Given the description of an element on the screen output the (x, y) to click on. 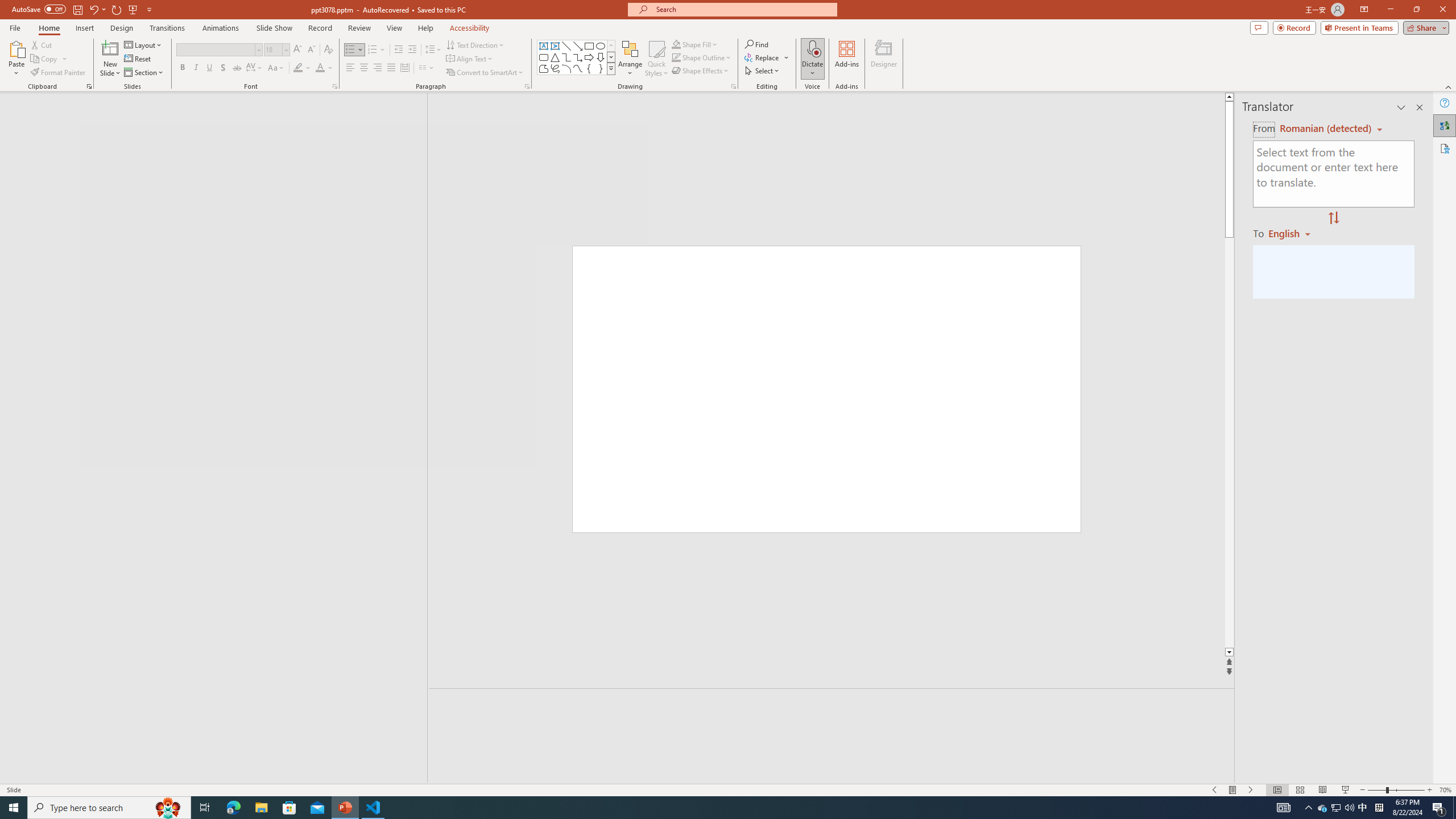
Line Arrow (577, 45)
Align Right (377, 67)
Shape Outline Green, Accent 1 (675, 56)
Decrease Indent (398, 49)
Arrow: Down (600, 57)
Left Brace (589, 68)
Microsoft search (742, 9)
Text Highlight Color (302, 67)
Paste (16, 48)
